Given the description of an element on the screen output the (x, y) to click on. 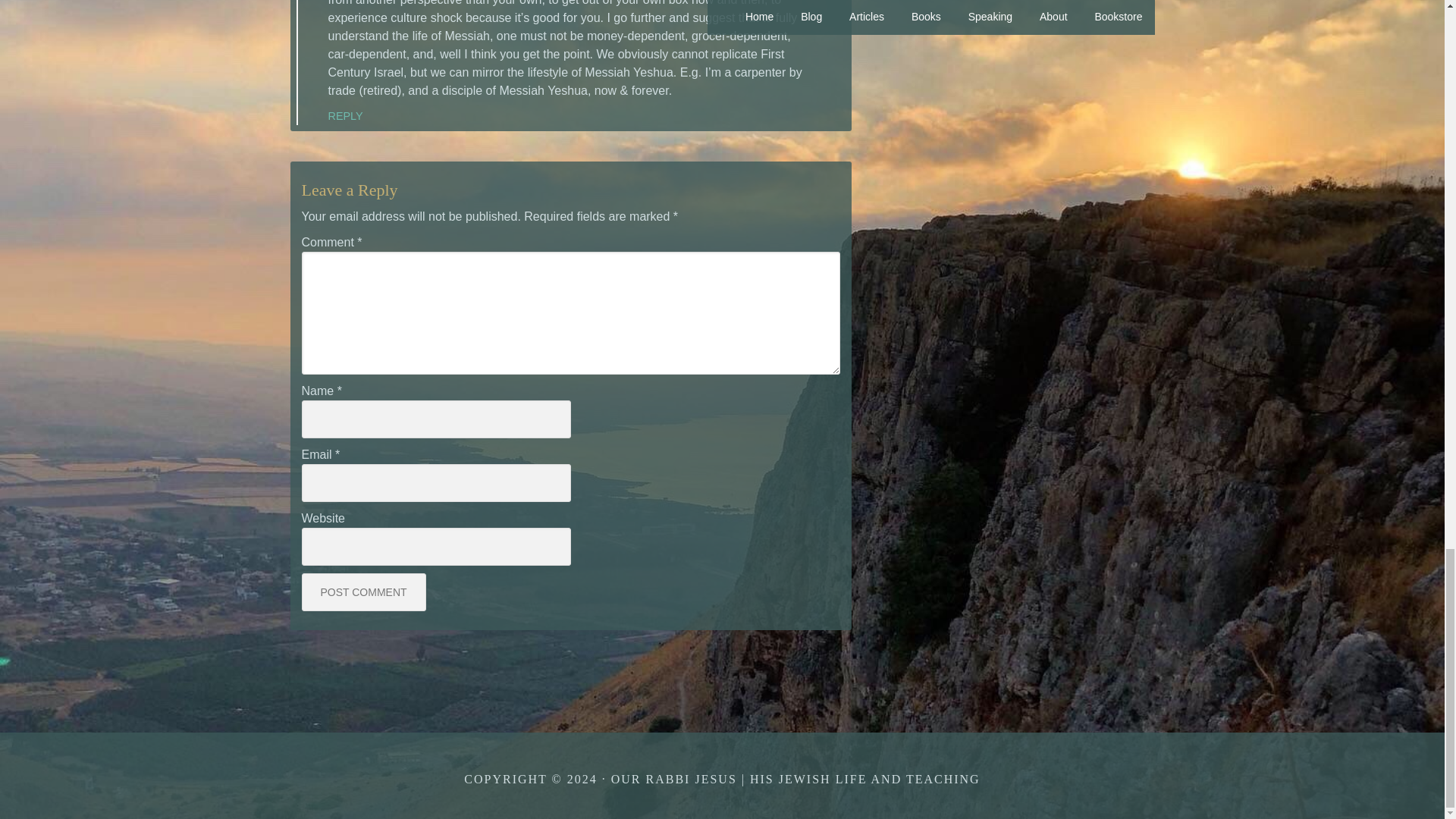
Post Comment (363, 591)
REPLY (344, 115)
Post Comment (363, 591)
